Given the description of an element on the screen output the (x, y) to click on. 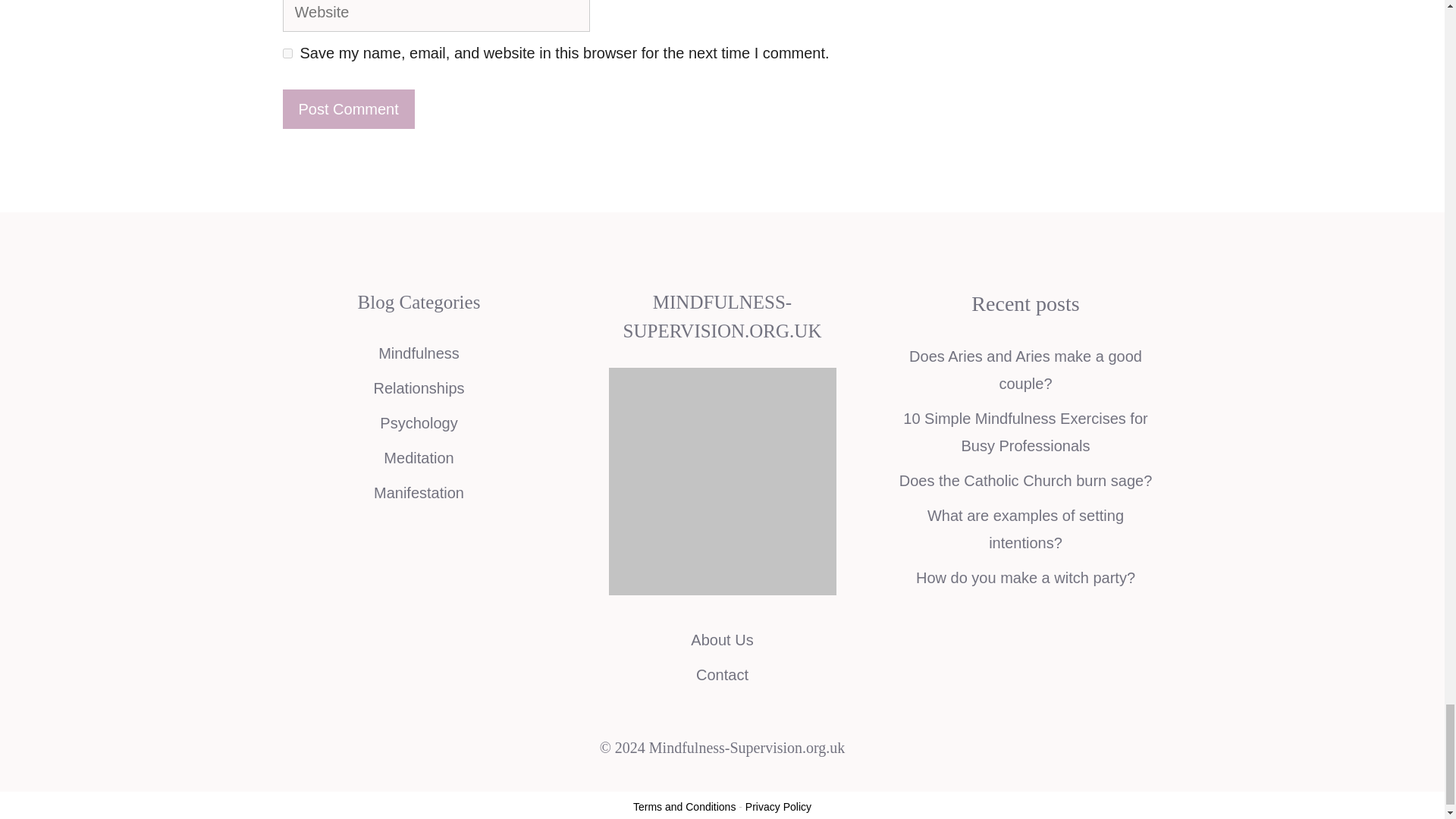
yes (287, 53)
Post Comment (347, 108)
Post Comment (347, 108)
